Given the description of an element on the screen output the (x, y) to click on. 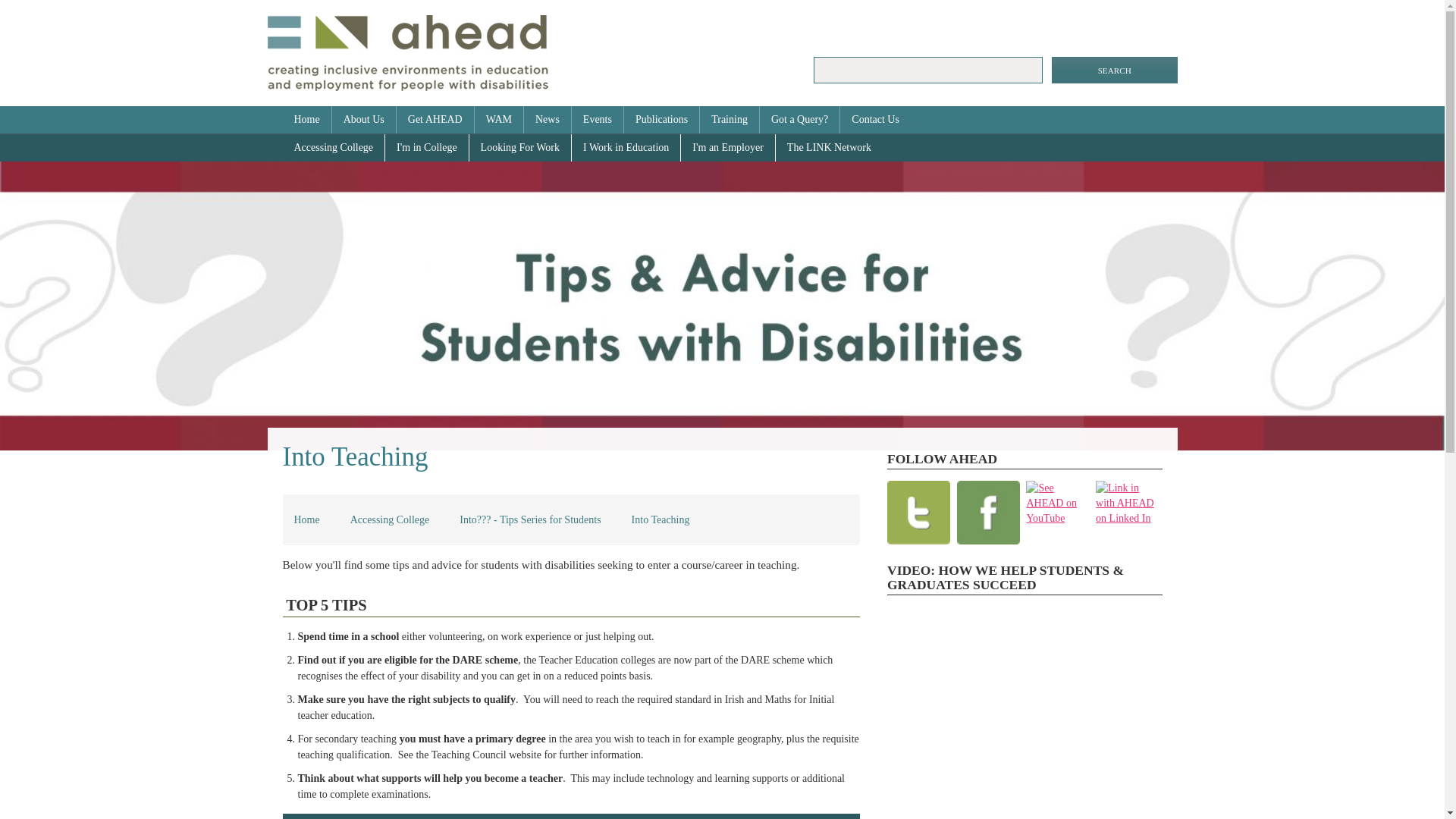
Training (730, 119)
Home (306, 119)
Home (307, 519)
WAM (499, 119)
The LINK Network (829, 147)
AHEAD - Our Work (1023, 712)
Into??? - Tips Series for Students (529, 519)
AHEAD Homepage (406, 51)
Events (598, 119)
Search (1114, 69)
